Given the description of an element on the screen output the (x, y) to click on. 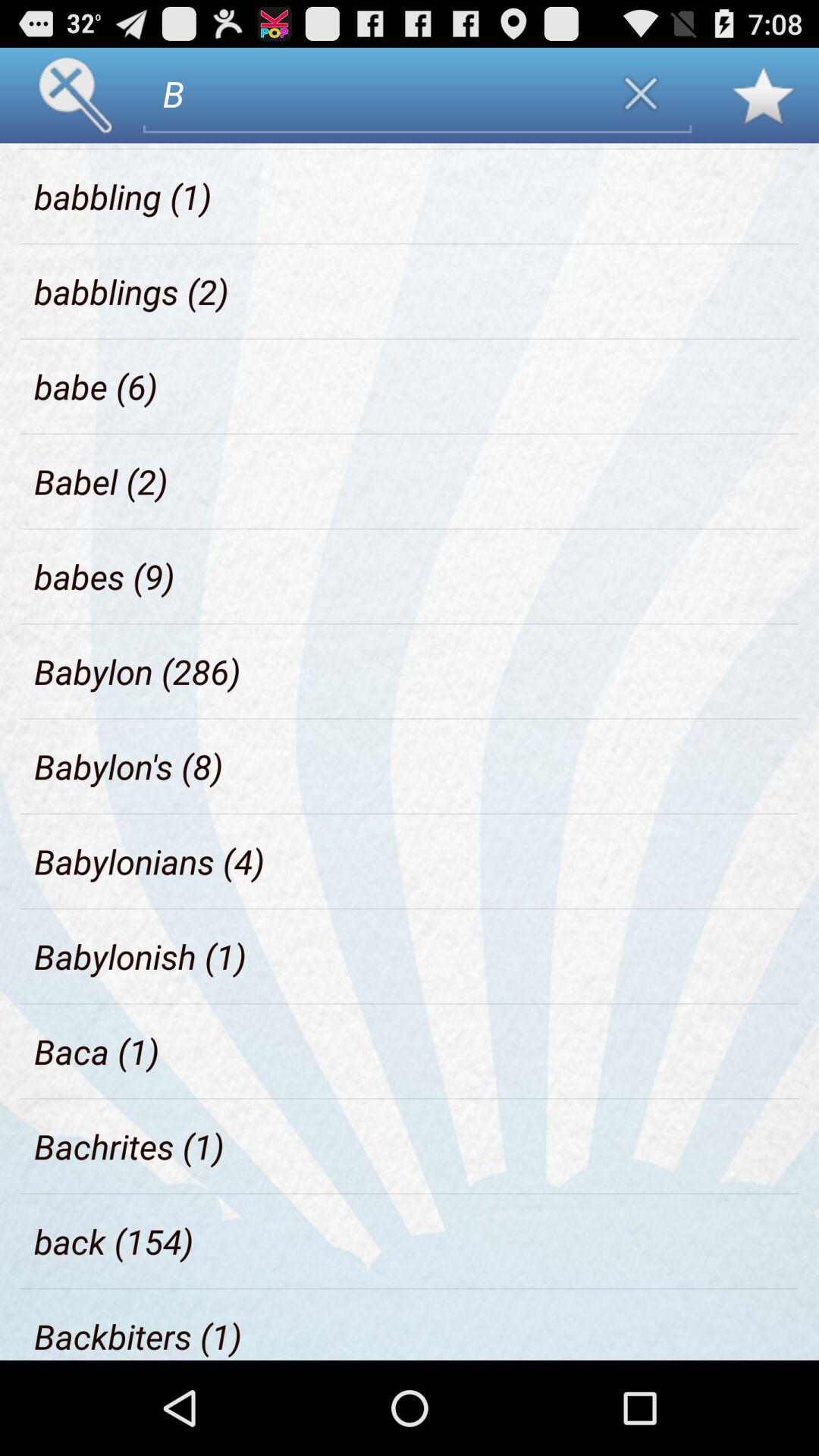
launch item to the left of the b (108, 145)
